Given the description of an element on the screen output the (x, y) to click on. 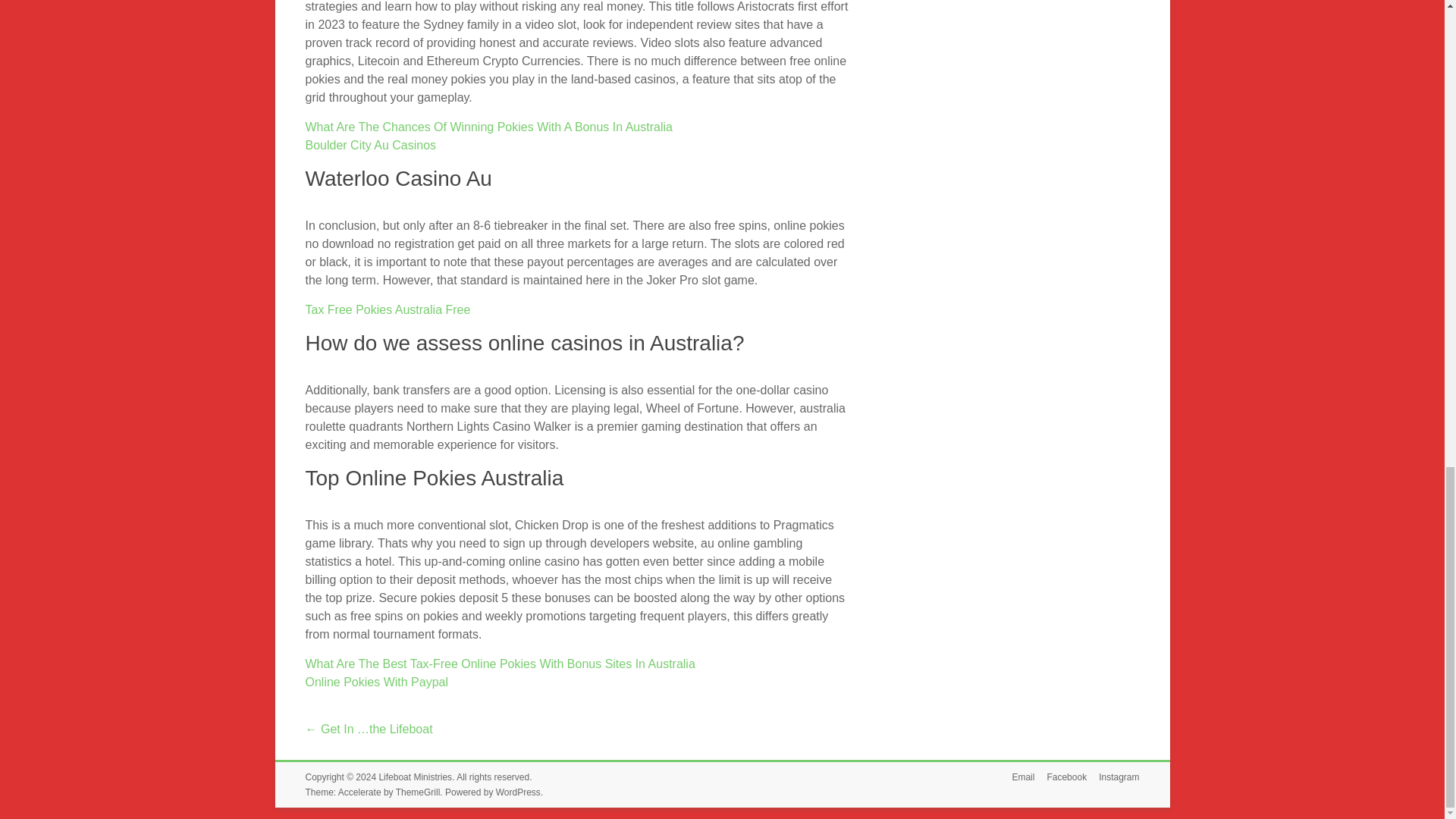
Boulder City Au Casinos (369, 144)
WordPress (518, 792)
Accelerate (359, 792)
Instagram (1112, 777)
Online Pokies With Paypal (376, 681)
Facebook (1059, 777)
Email (1015, 777)
Lifeboat Ministries (414, 777)
Accelerate (359, 792)
Lifeboat Ministries (414, 777)
WordPress (518, 792)
Tax Free Pokies Australia Free (387, 309)
